Given the description of an element on the screen output the (x, y) to click on. 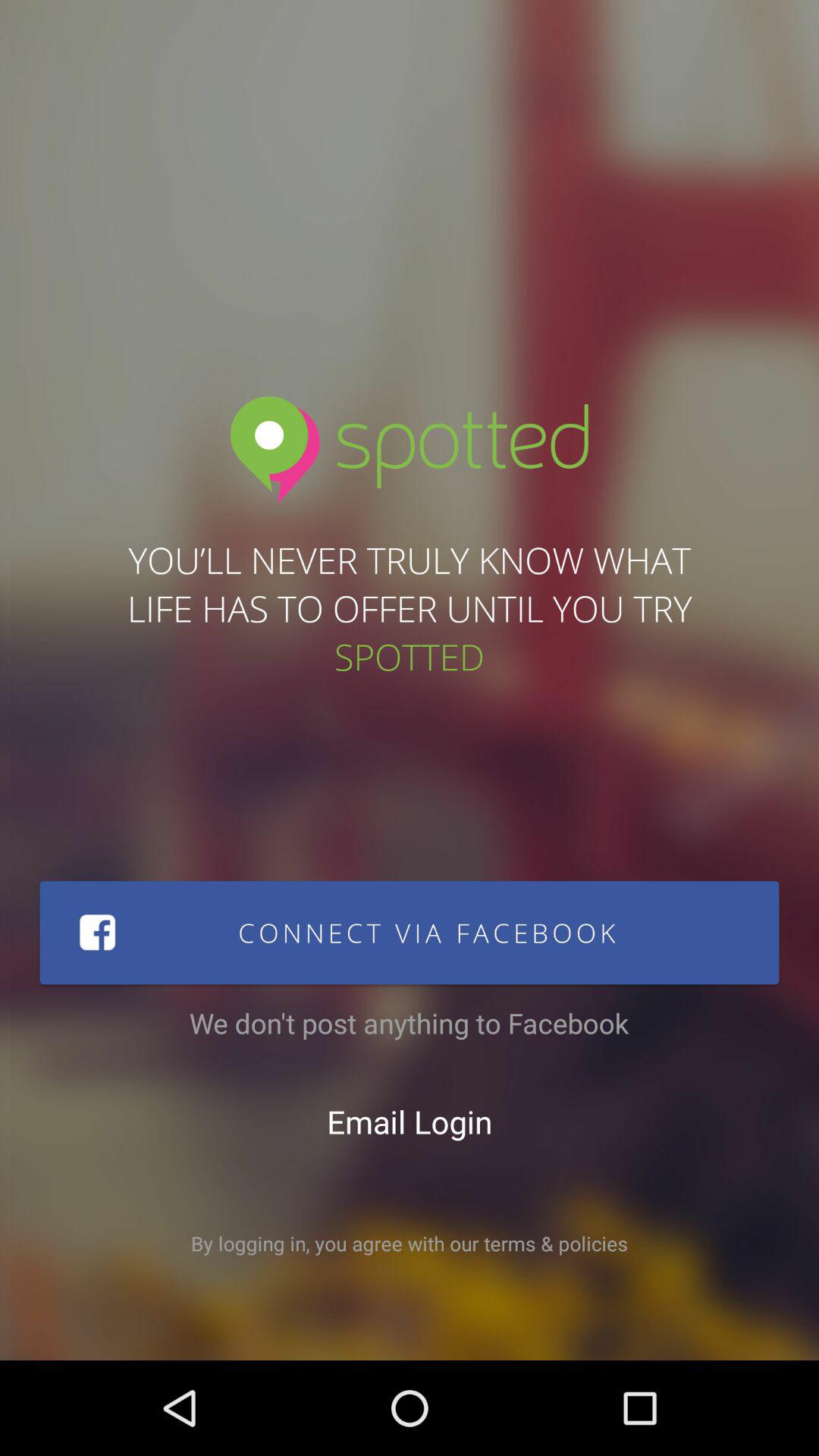
swipe until connect via facebook icon (409, 932)
